Given the description of an element on the screen output the (x, y) to click on. 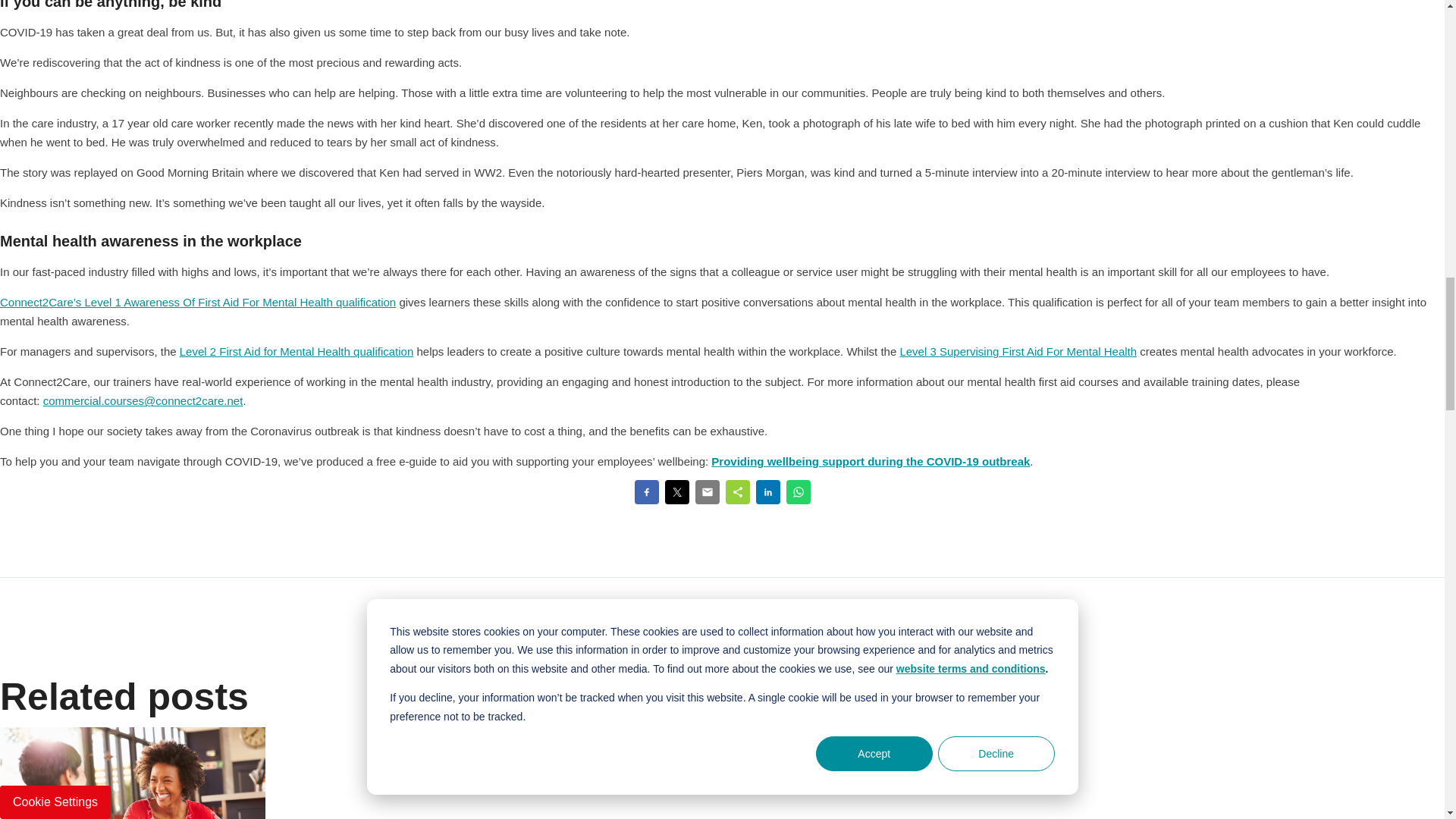
Level 2 First Aid for Mental Health qualification (296, 350)
Providing wellbeing support during the COVID-19 outbreak (870, 461)
Level 3 Supervising First Aid For Mental Health (1018, 350)
